Given the description of an element on the screen output the (x, y) to click on. 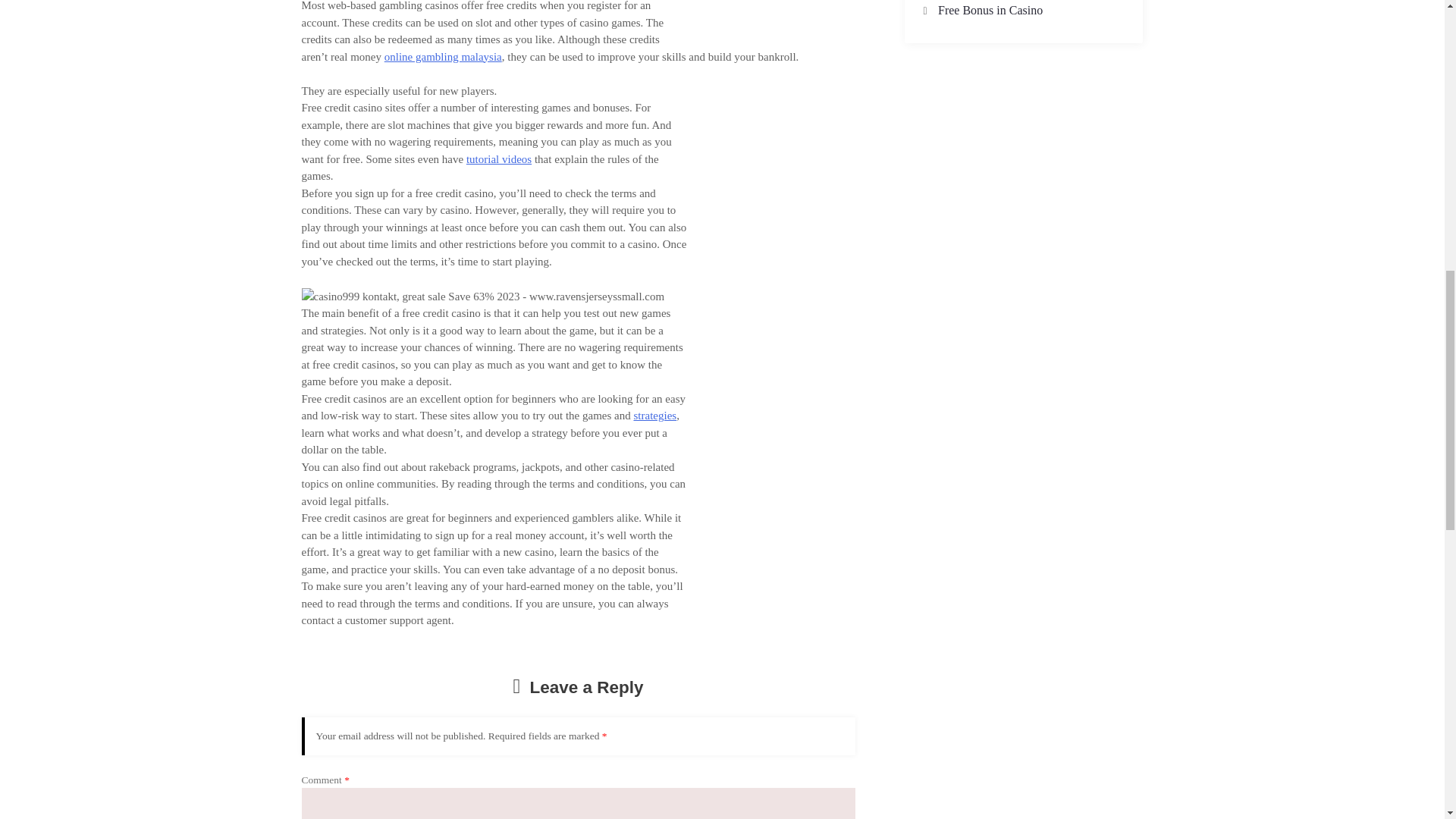
tutorial videos (498, 159)
Free Bonus in Casino (989, 10)
online gambling malaysia (443, 55)
strategies (655, 415)
